Given the description of an element on the screen output the (x, y) to click on. 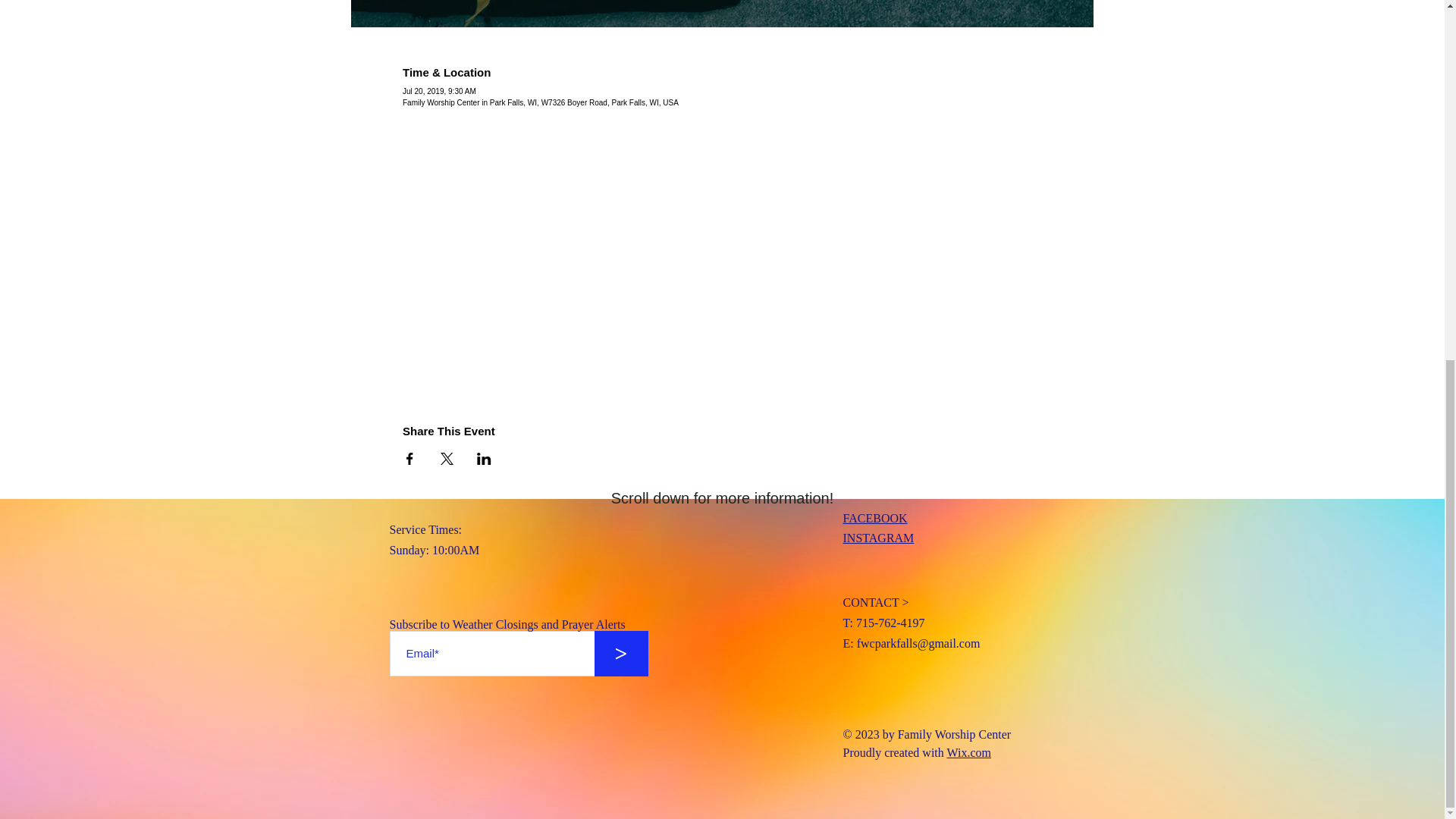
FACEBOOK (875, 517)
Wix.com (969, 752)
INSTAGRAM (878, 537)
